Given the description of an element on the screen output the (x, y) to click on. 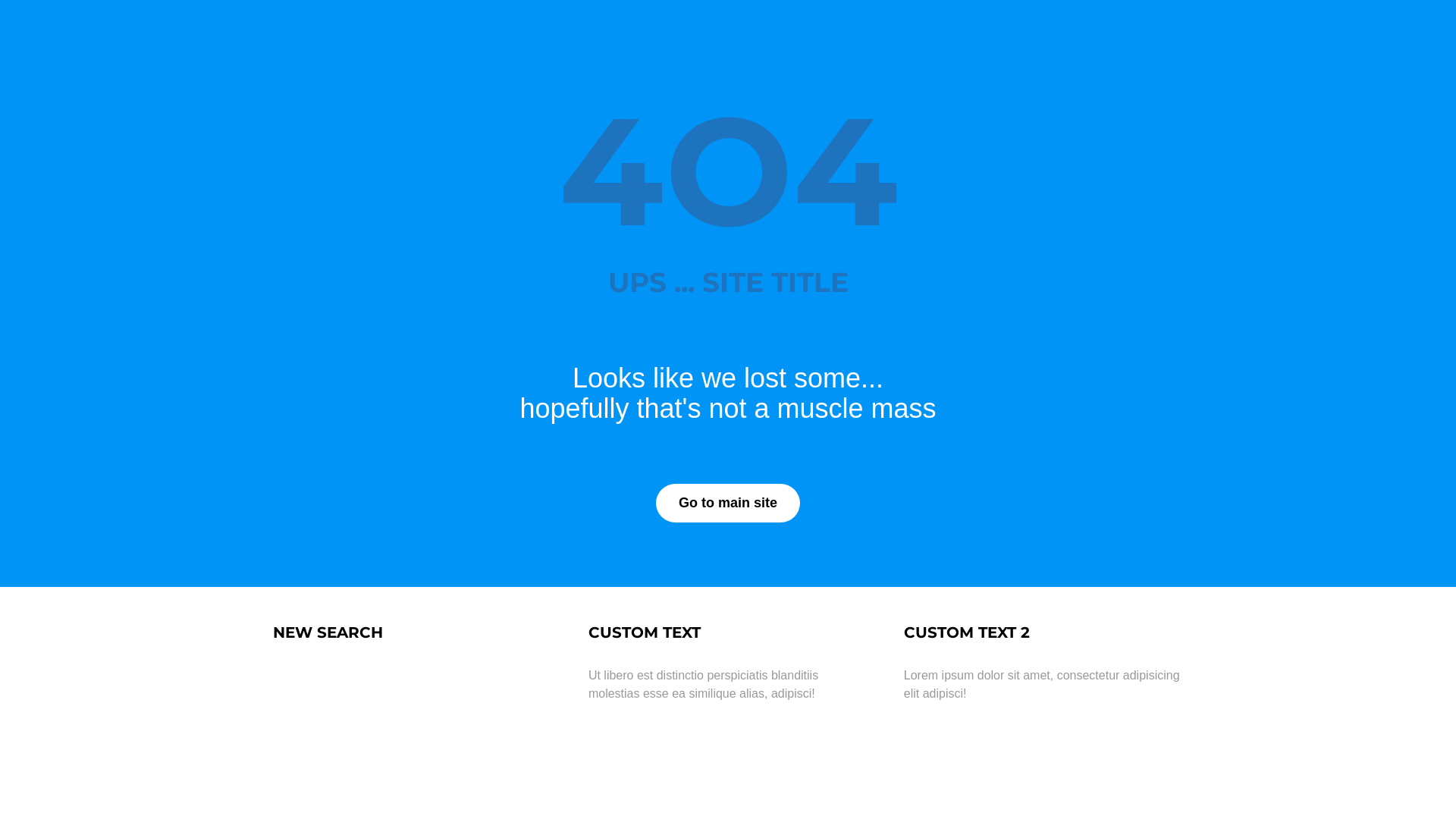
Go to main site Element type: text (727, 502)
